Given the description of an element on the screen output the (x, y) to click on. 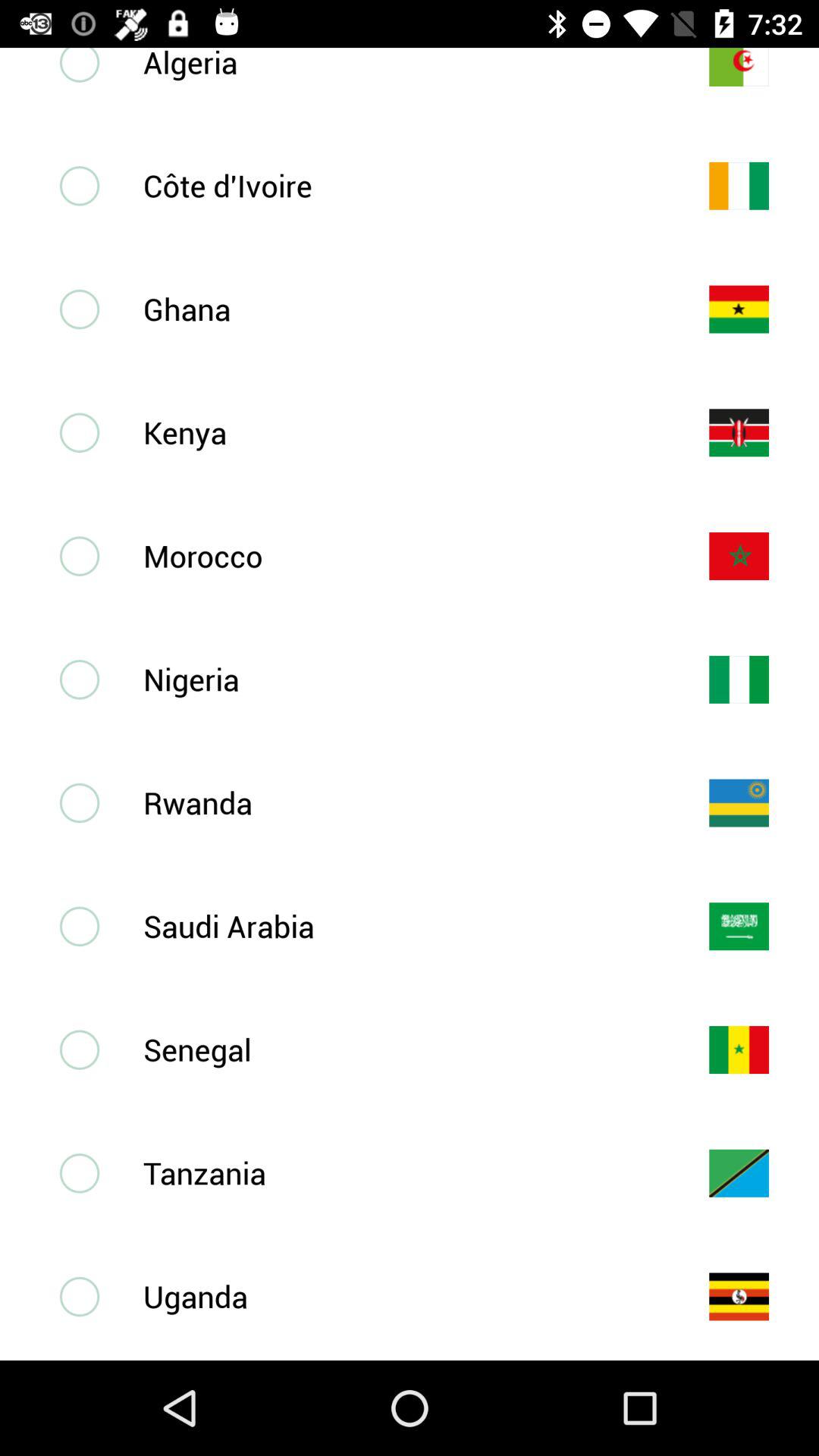
open morocco item (401, 555)
